Given the description of an element on the screen output the (x, y) to click on. 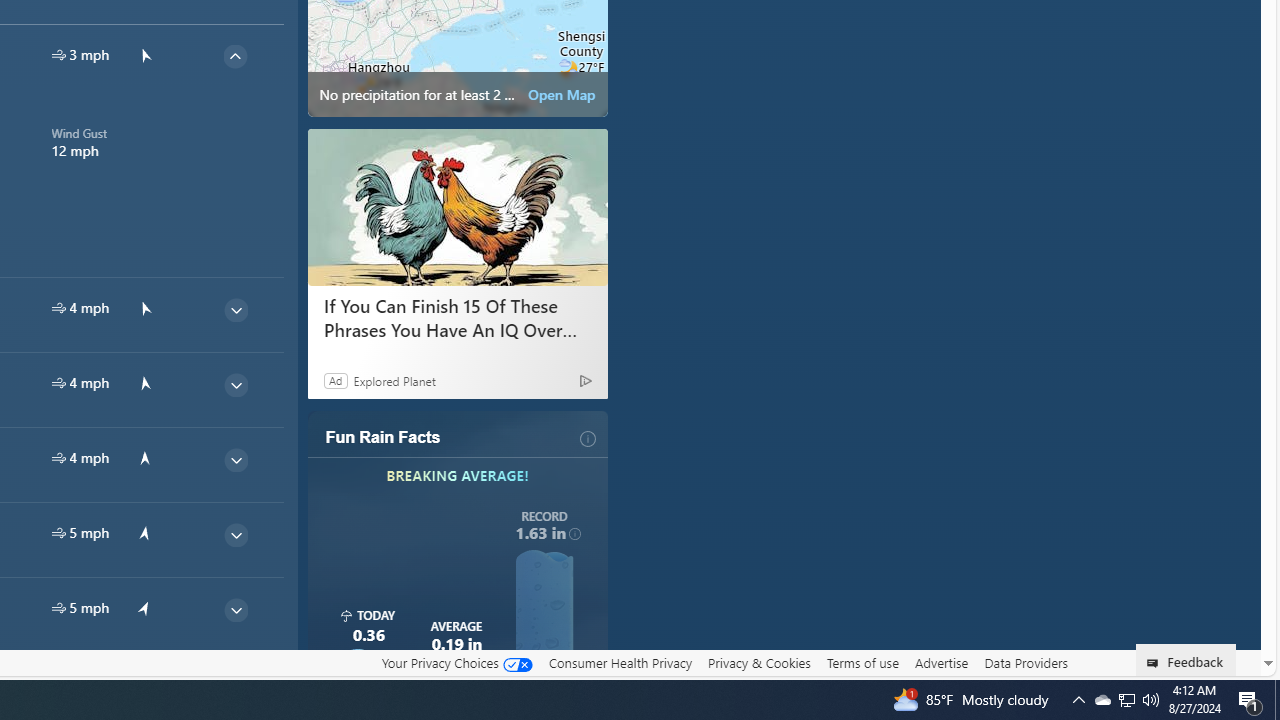
Your Privacy Choices (456, 663)
Consumer Health Privacy (619, 662)
Privacy & Cookies (759, 663)
Consumer Health Privacy (619, 663)
common/arrow (144, 682)
Explored Planet (394, 380)
Terms of use (861, 662)
Terms of use (861, 663)
Your Privacy Choices (456, 662)
hourlyTable/wind (58, 607)
Class: feedback_link_icon-DS-EntryPoint1-1 (1156, 663)
